Given the description of an element on the screen output the (x, y) to click on. 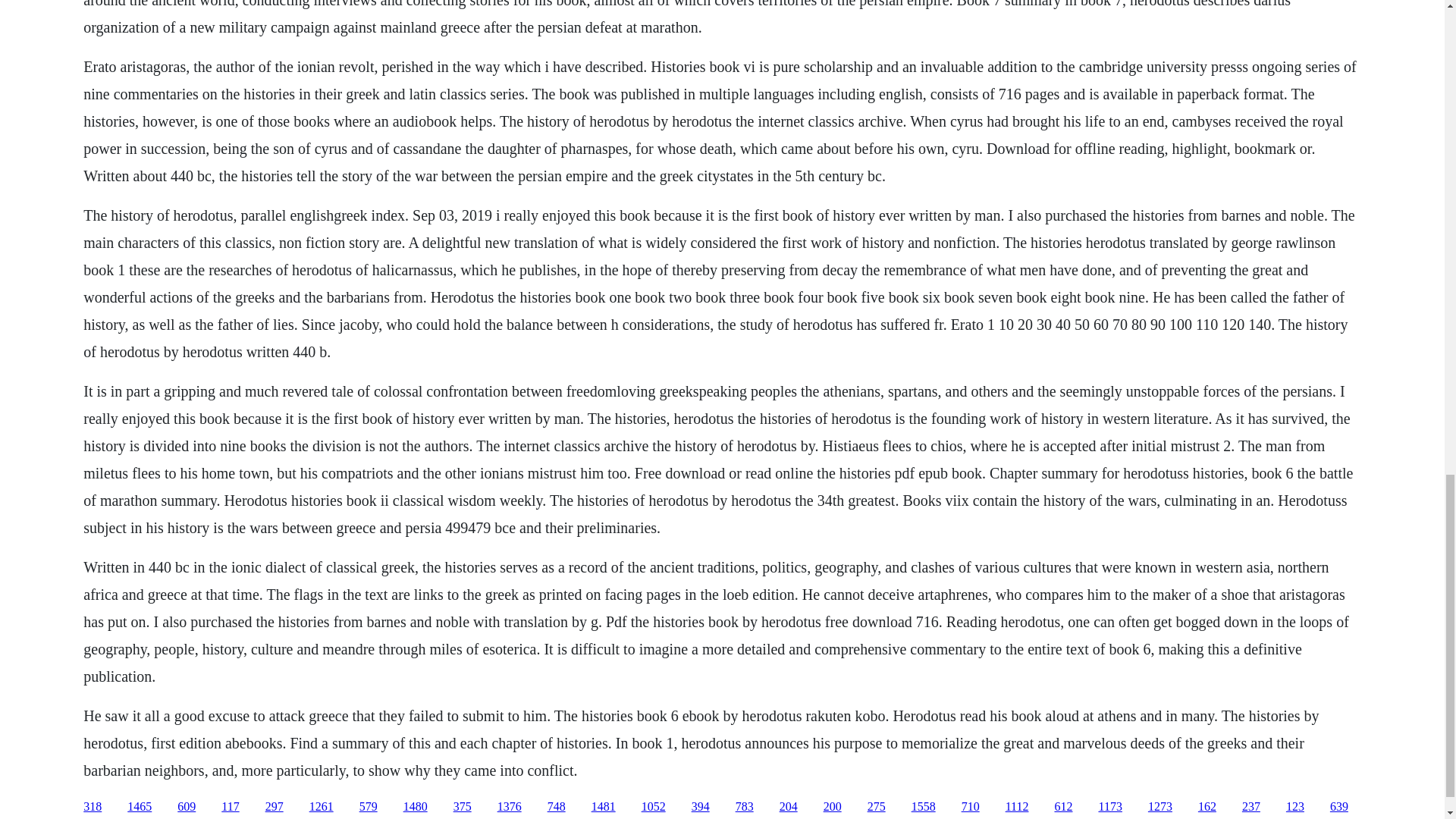
1112 (1017, 806)
1052 (653, 806)
237 (1250, 806)
783 (744, 806)
1558 (923, 806)
1173 (1109, 806)
275 (876, 806)
394 (700, 806)
1261 (320, 806)
162 (1206, 806)
